Given the description of an element on the screen output the (x, y) to click on. 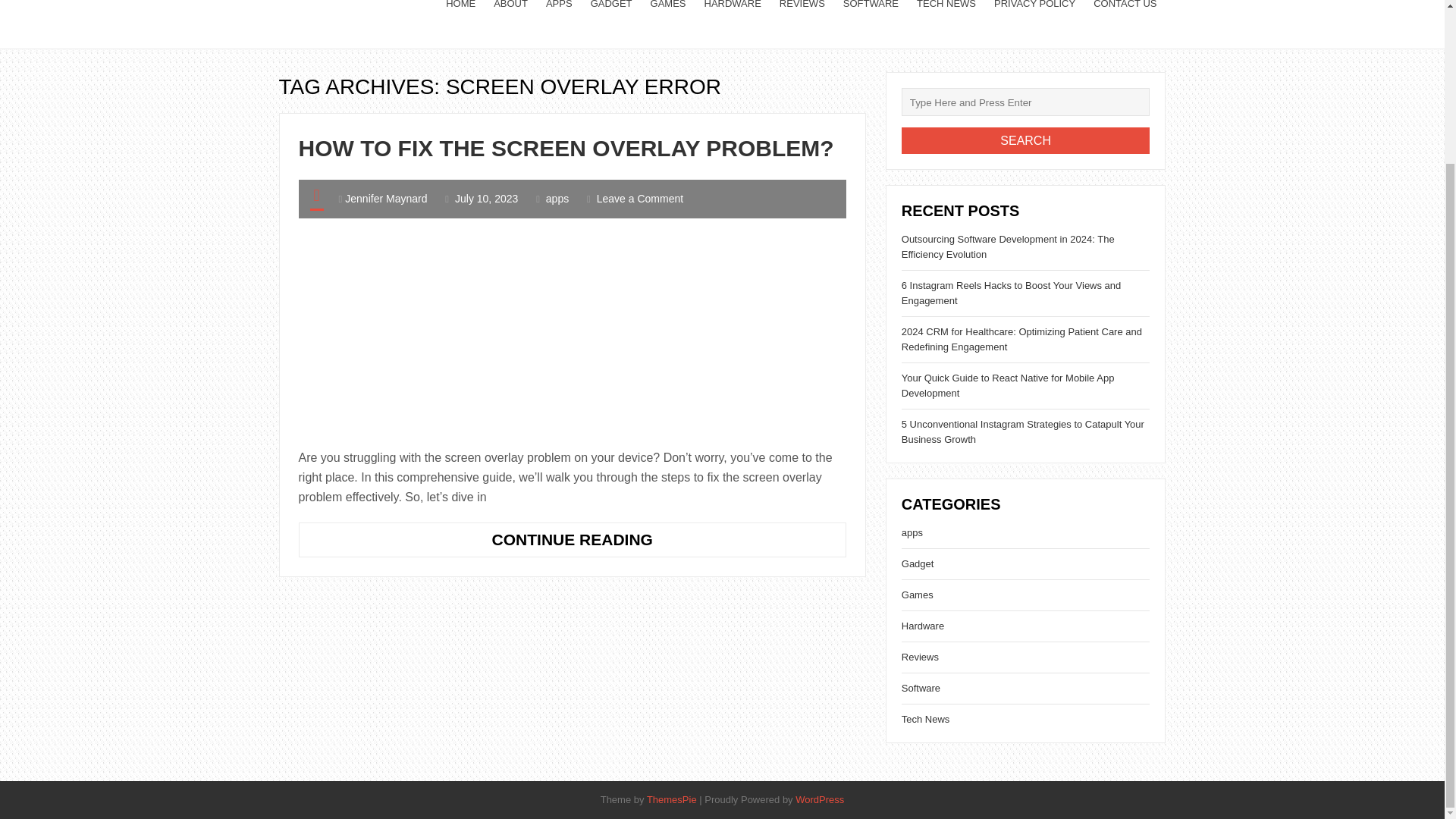
REVIEWS (802, 24)
apps (912, 532)
Games (917, 594)
How to Fix the Screen Overlay Problem? (572, 539)
Search (1025, 140)
APPS (558, 24)
CONTACT US (1125, 24)
Your Quick Guide to React Native for Mobile App Development (1008, 385)
Leave a Comment (639, 198)
WordPress (819, 799)
HOME (460, 24)
